Given the description of an element on the screen output the (x, y) to click on. 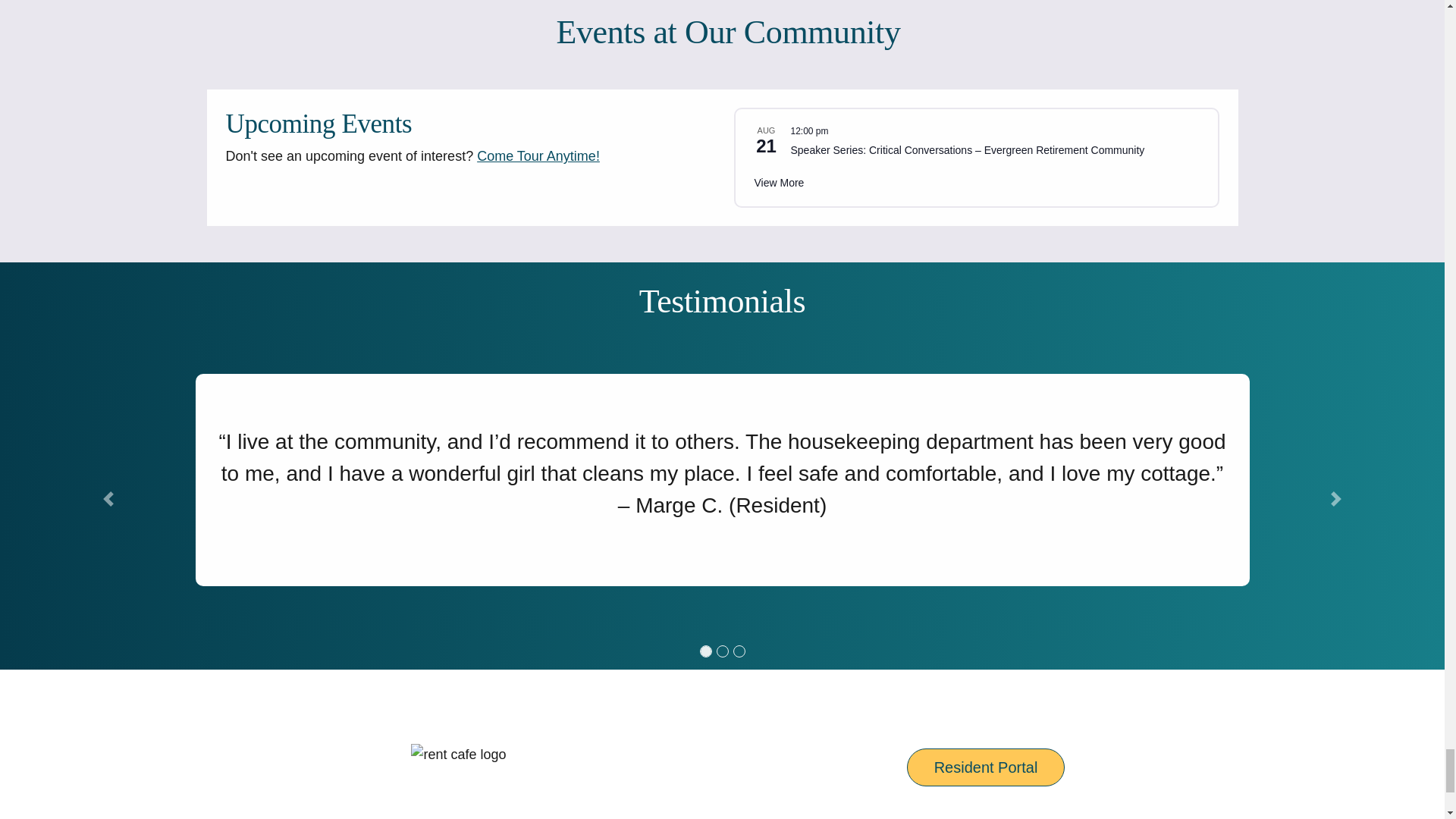
View more events at Evergreen. (778, 182)
